Given the description of an element on the screen output the (x, y) to click on. 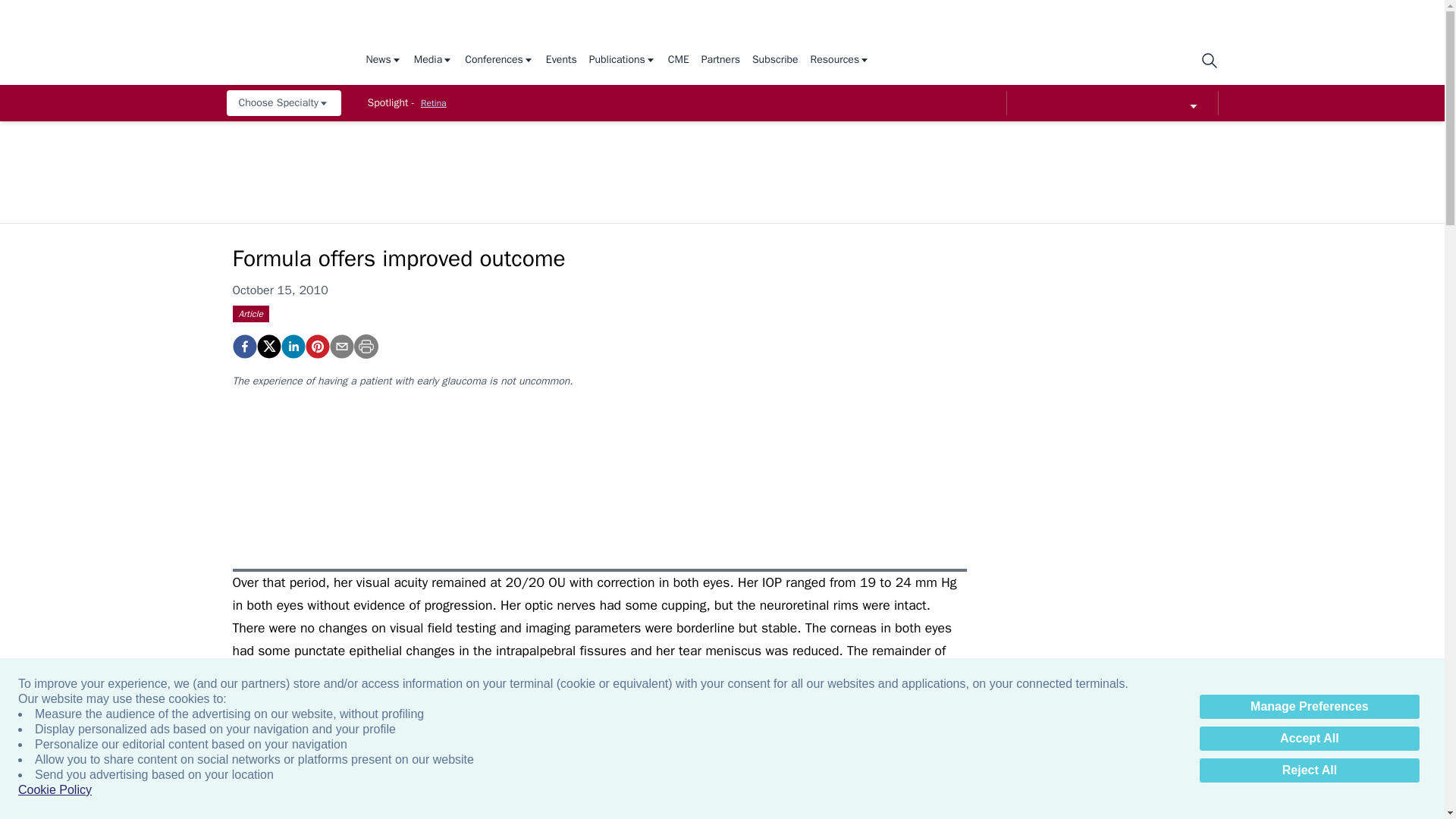
CME (678, 60)
Media (432, 60)
Events (561, 60)
Accept All (1309, 738)
Publications (622, 60)
News (383, 60)
Manage Preferences (1309, 706)
Formula offers improved outcome (316, 346)
Partners (720, 60)
Resources (840, 60)
